Given the description of an element on the screen output the (x, y) to click on. 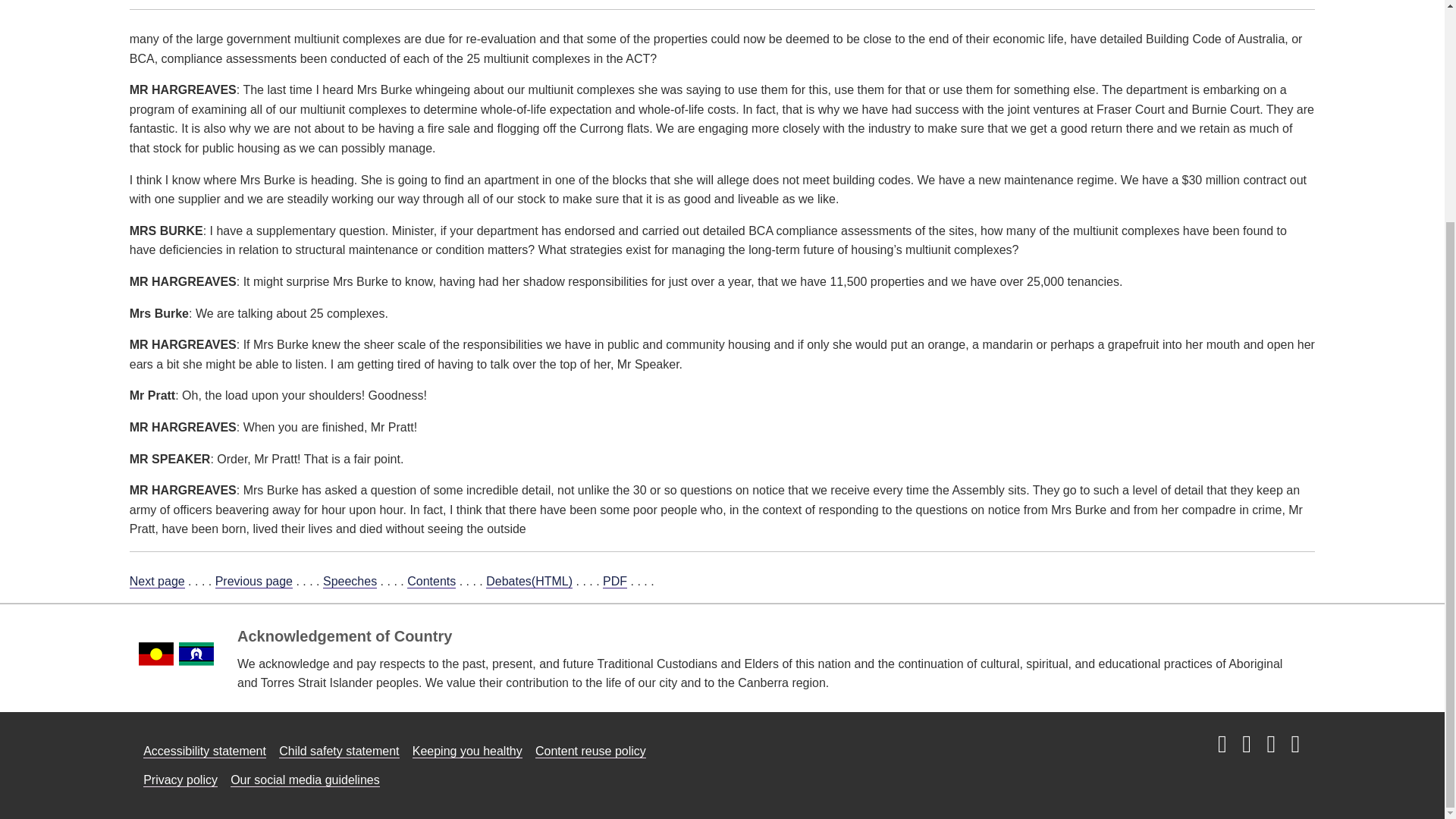
Read our privacy policy (179, 780)
Read our child safety committment (338, 751)
PDF (614, 581)
Contents (431, 581)
Accessibility statement (204, 751)
Next page (156, 581)
Child safety statement (338, 751)
Privacy policy (179, 780)
Previous page (253, 581)
Speeches (350, 581)
Content reuse policy (590, 751)
Read our content sharing and re-use policy (590, 751)
Read about how we're keeping our Assembly healthy (467, 751)
Keeping you healthy (467, 751)
Read our social media guidelines (305, 780)
